Given the description of an element on the screen output the (x, y) to click on. 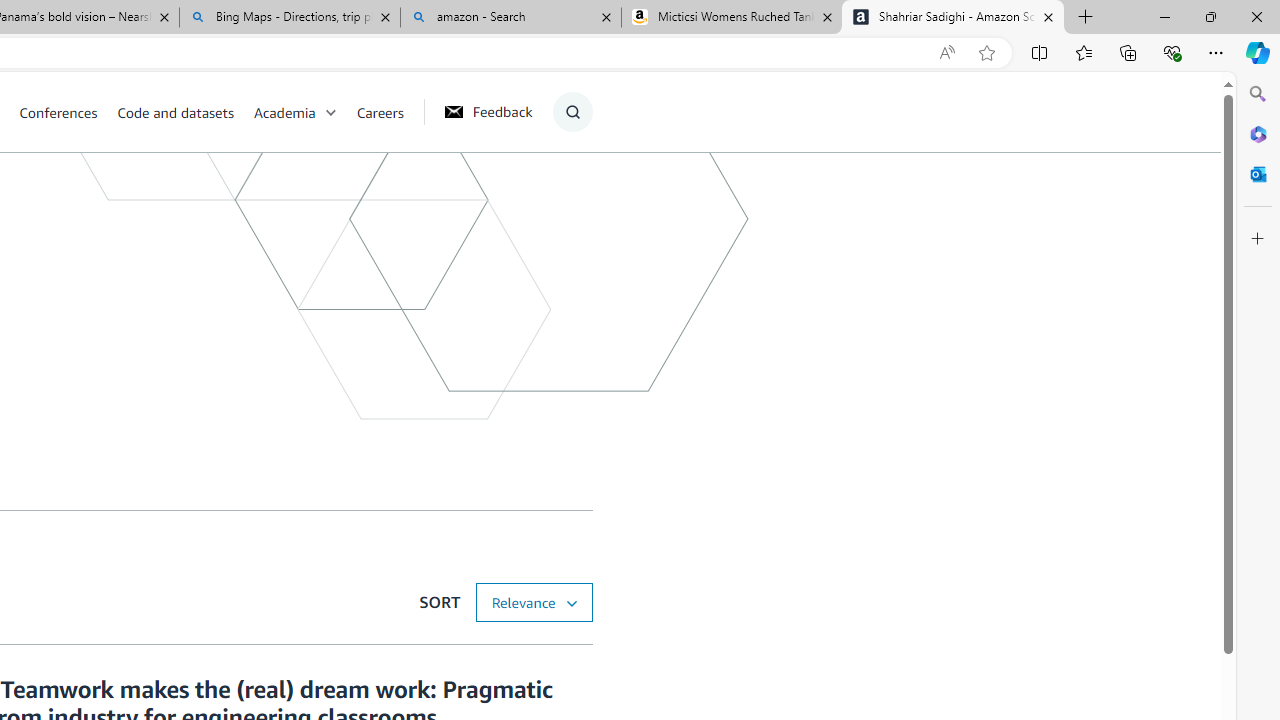
Submit Search (565, 191)
Code and datasets (175, 111)
Careers (389, 111)
Shahriar Sadighi - Amazon Science (953, 17)
Class: chevron (330, 116)
Academia (305, 111)
Open Sub Navigation (330, 111)
Code and datasets (184, 111)
